Given the description of an element on the screen output the (x, y) to click on. 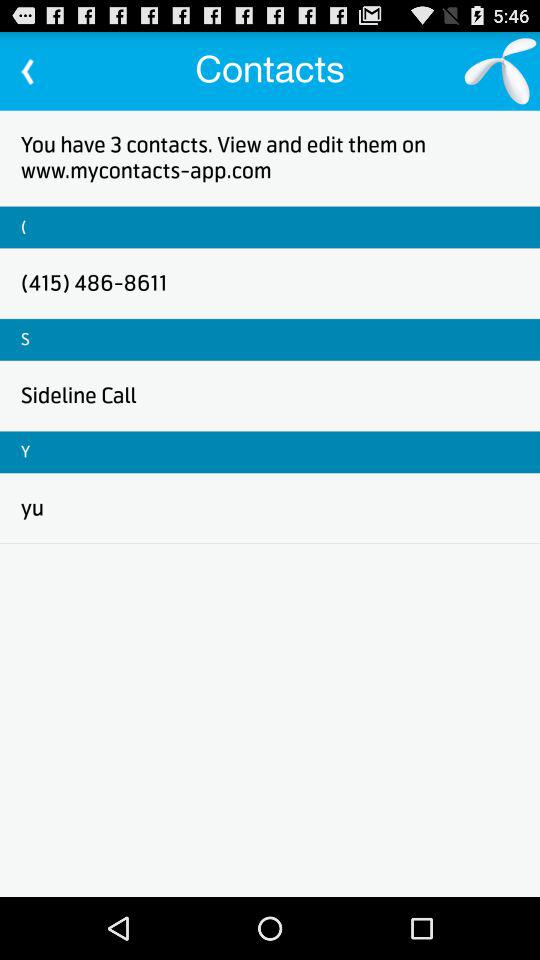
choose the item above the ( (270, 157)
